Given the description of an element on the screen output the (x, y) to click on. 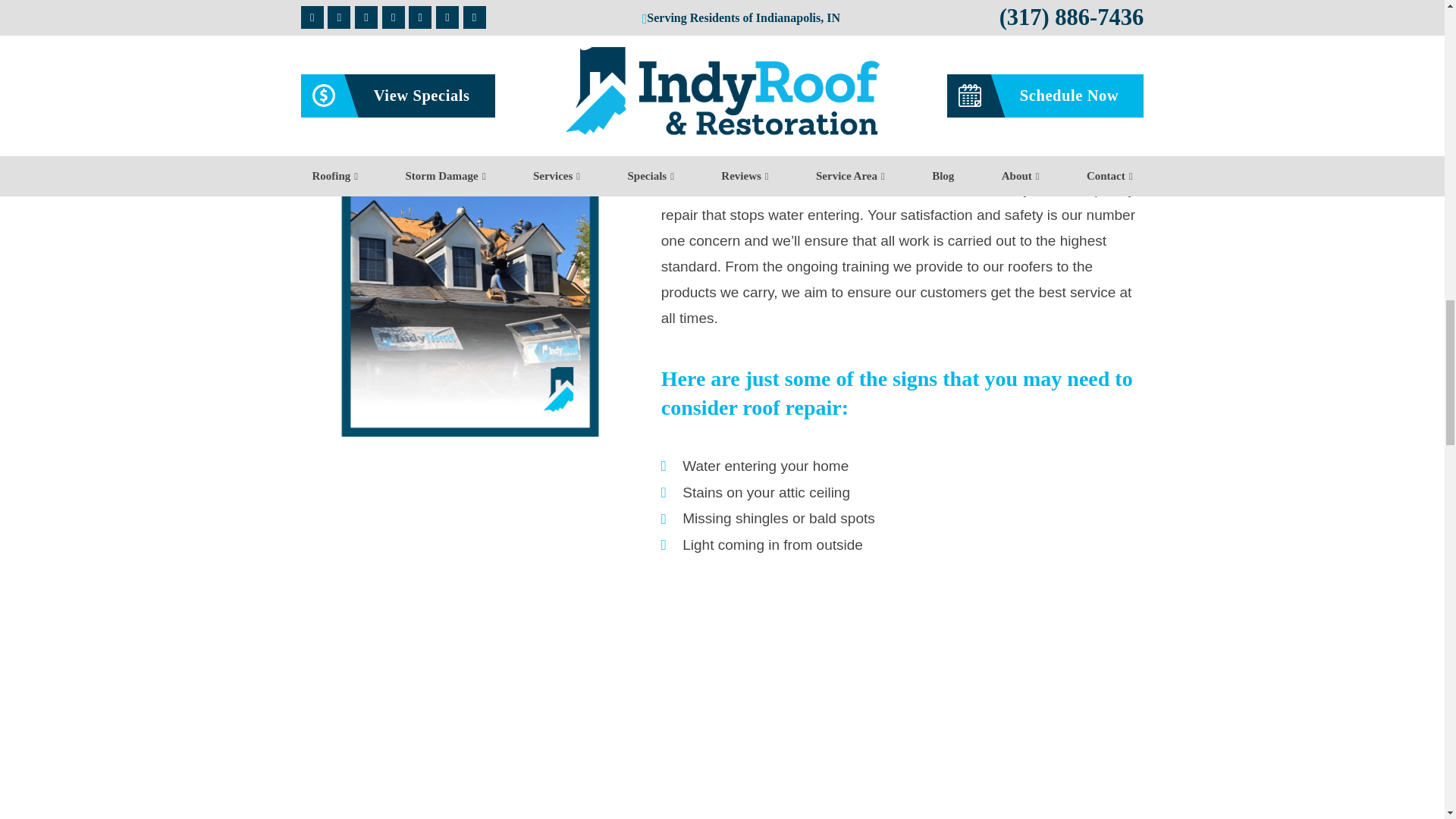
YouTube video player (901, 700)
